Given the description of an element on the screen output the (x, y) to click on. 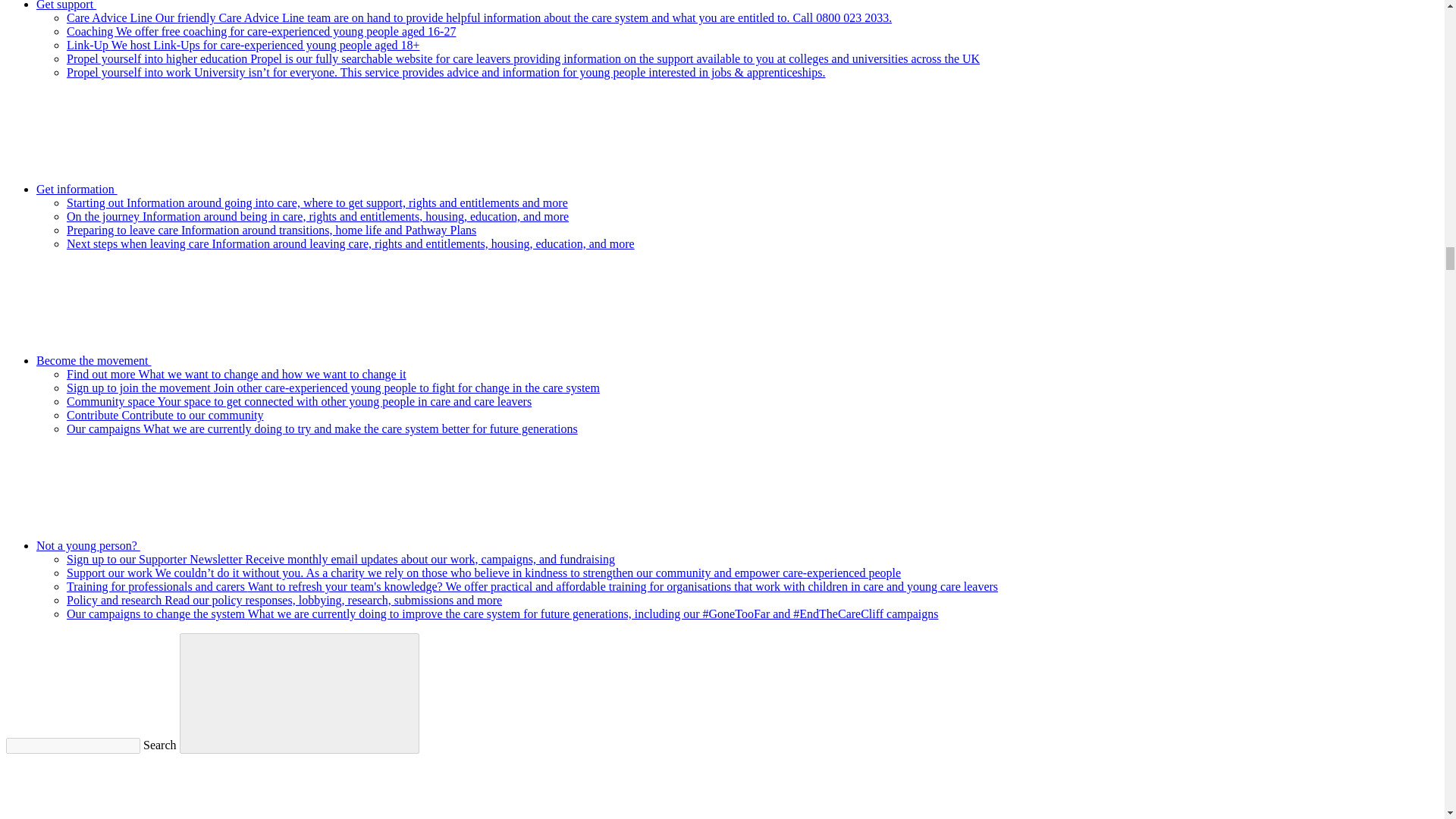
Become the movement (207, 359)
Contribute Contribute to our community (164, 414)
Not a young person? (202, 545)
